Given the description of an element on the screen output the (x, y) to click on. 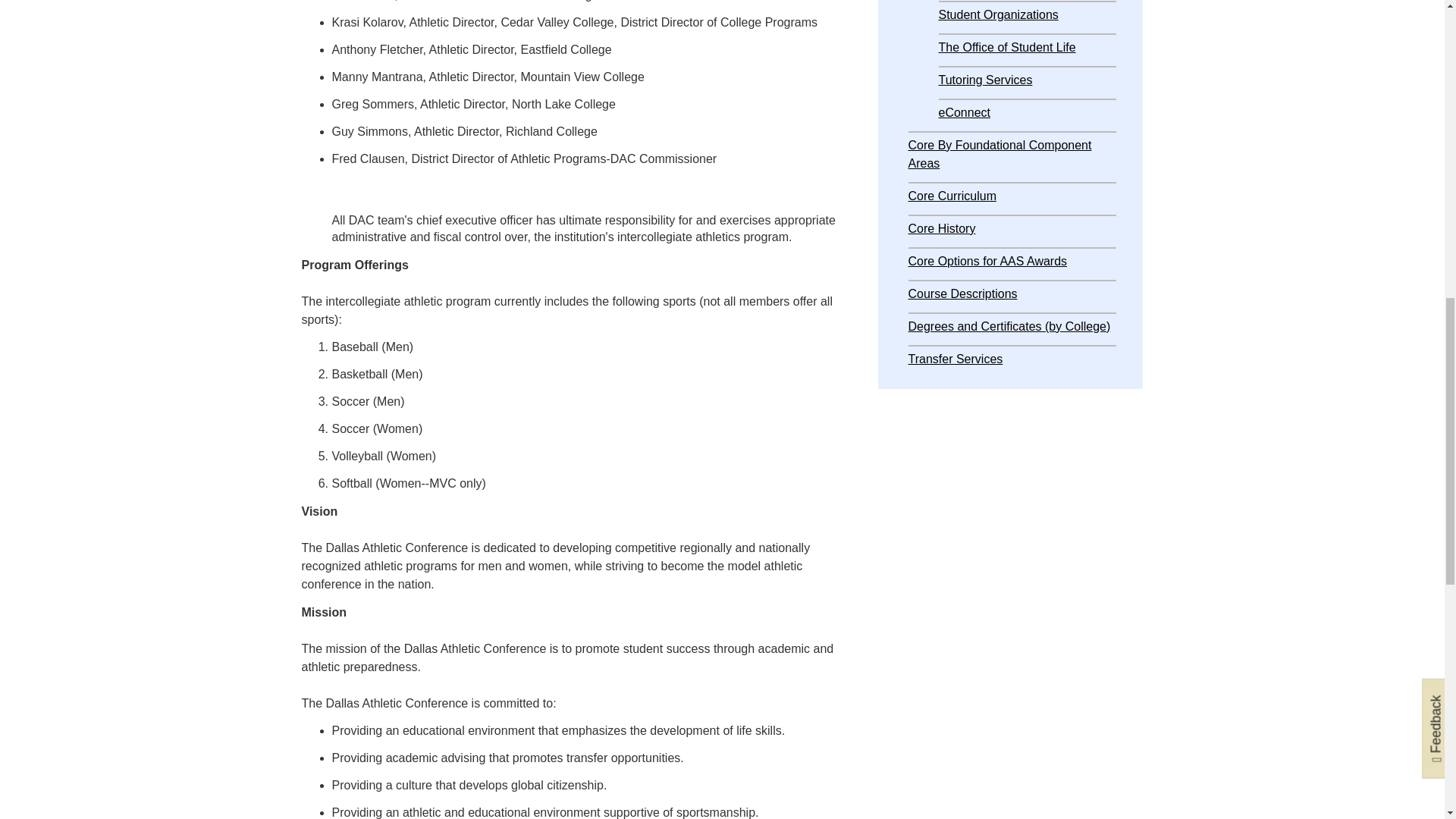
The Office of Student Life (1007, 47)
Student Organizations (998, 14)
eConnect (965, 112)
Tutoring Services (985, 79)
